Given the description of an element on the screen output the (x, y) to click on. 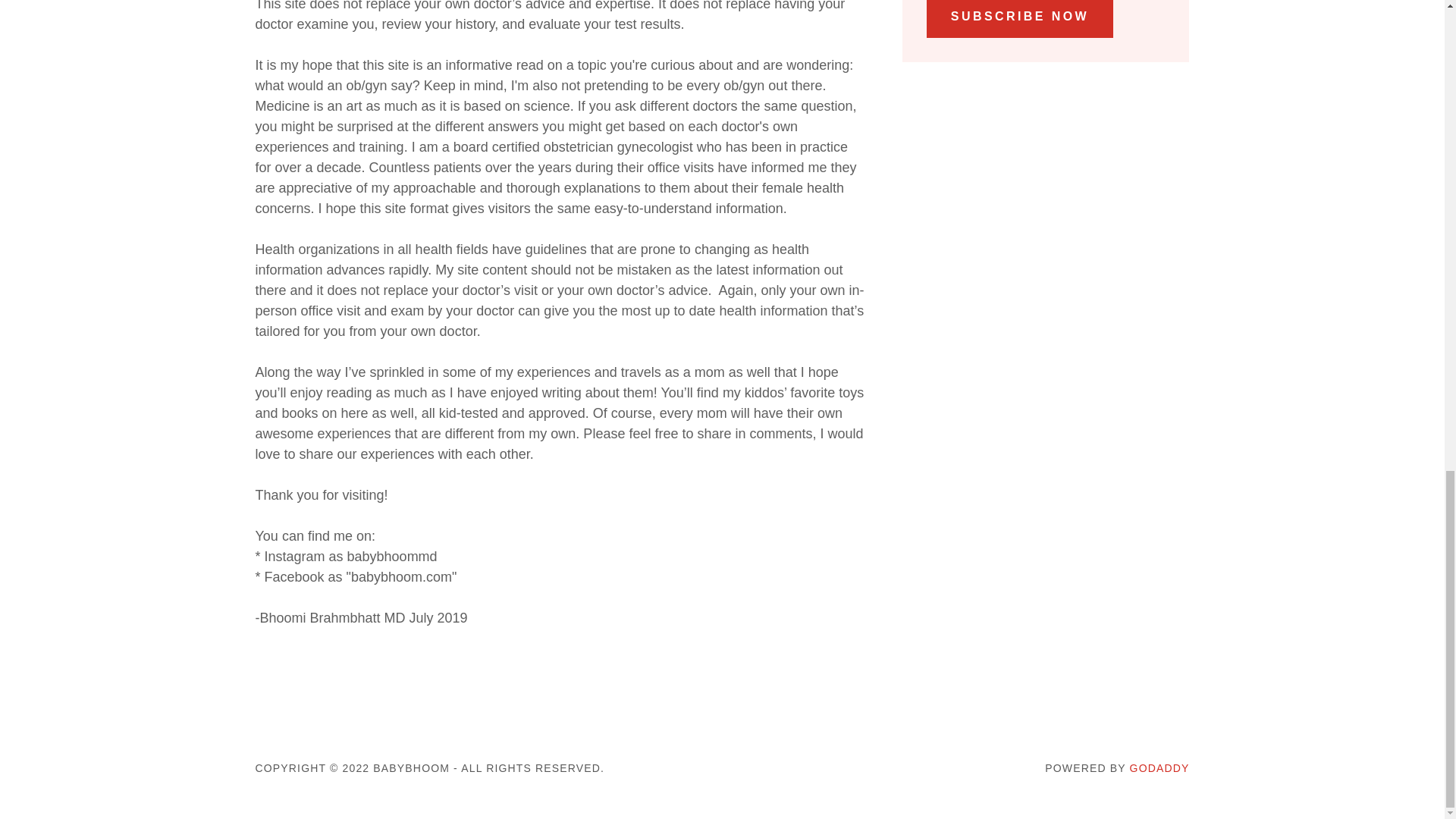
SUBSCRIBE NOW (1019, 18)
GODADDY (1159, 767)
